Given the description of an element on the screen output the (x, y) to click on. 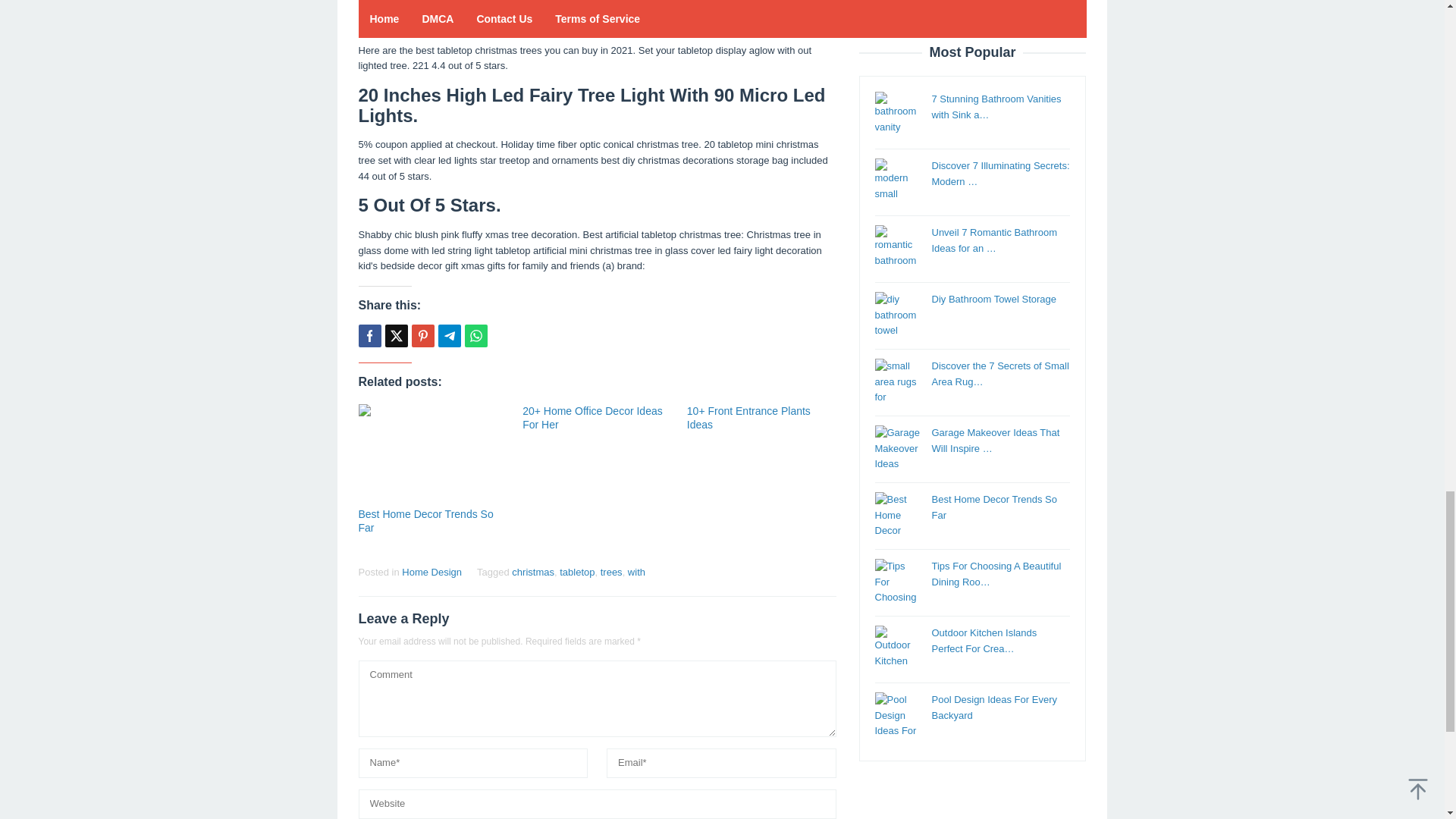
Whatsapp (475, 335)
Pin this (421, 335)
trees (611, 572)
Permalink to: Best Home Decor Trends So Far (432, 453)
tabletop (576, 572)
with (636, 572)
christmas (533, 572)
Tweet this (396, 335)
Best Home Decor Trends So Far (425, 520)
Home Design (431, 572)
